Given the description of an element on the screen output the (x, y) to click on. 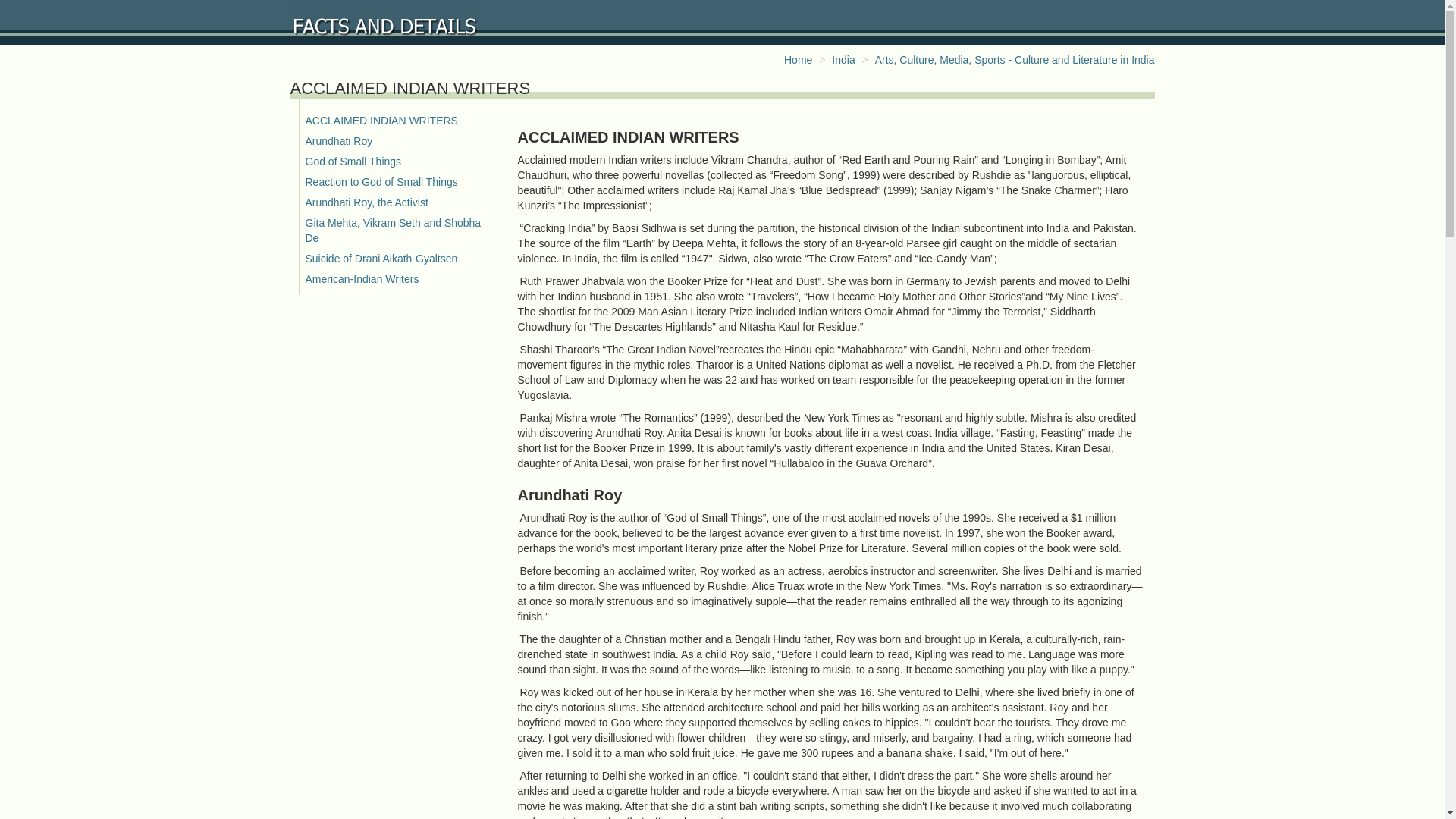
India (842, 60)
Reaction to God of Small Things (380, 182)
ACCLAIMED INDIAN WRITERS (380, 120)
Arundhati Roy (338, 141)
God of Small Things (352, 161)
Home (798, 60)
American-Indian Writers (361, 278)
Gita Mehta, Vikram Seth and Shobha De (392, 230)
Arundhati Roy, the Activist (366, 202)
